Given the description of an element on the screen output the (x, y) to click on. 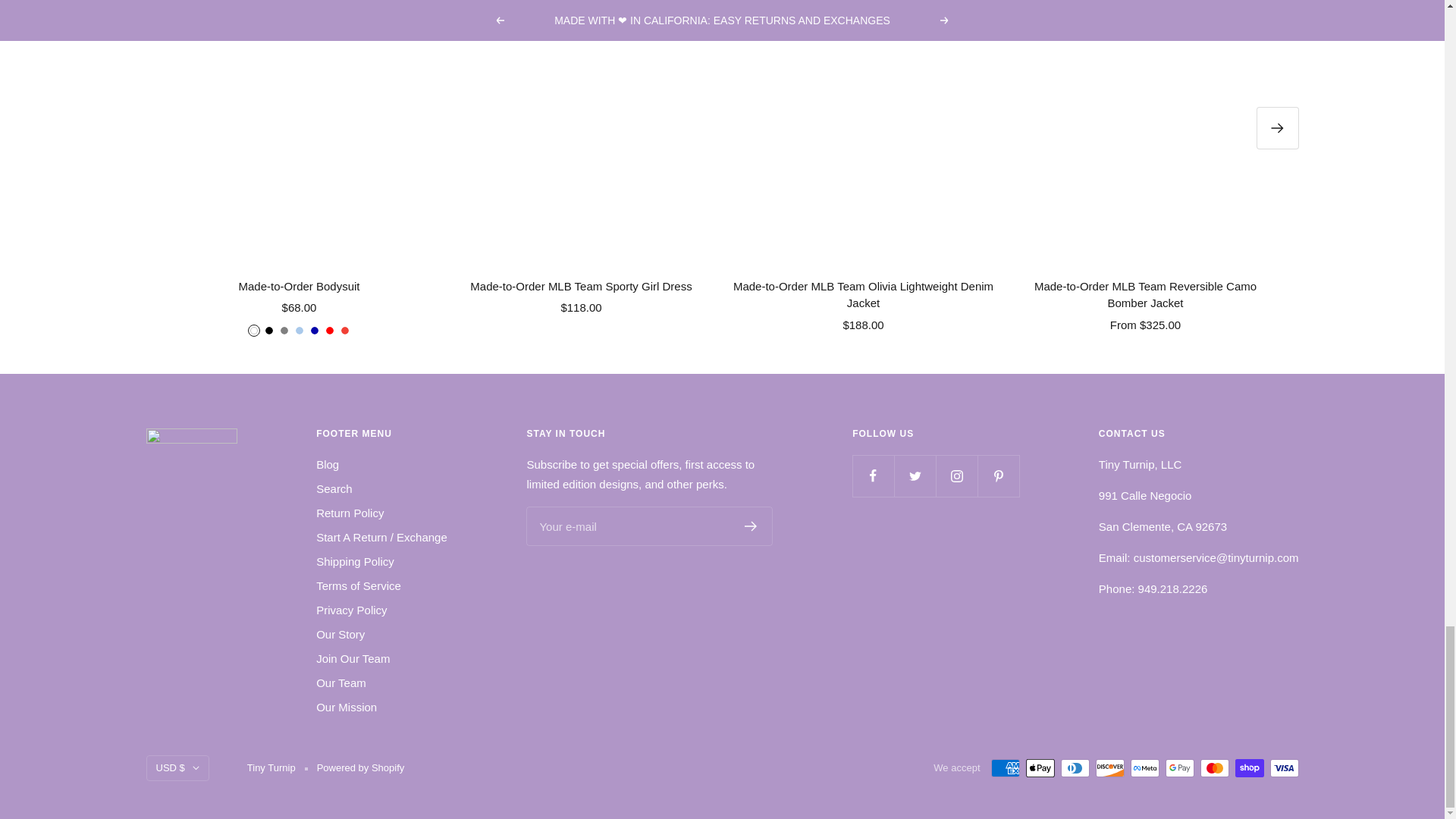
Register (750, 525)
